Given the description of an element on the screen output the (x, y) to click on. 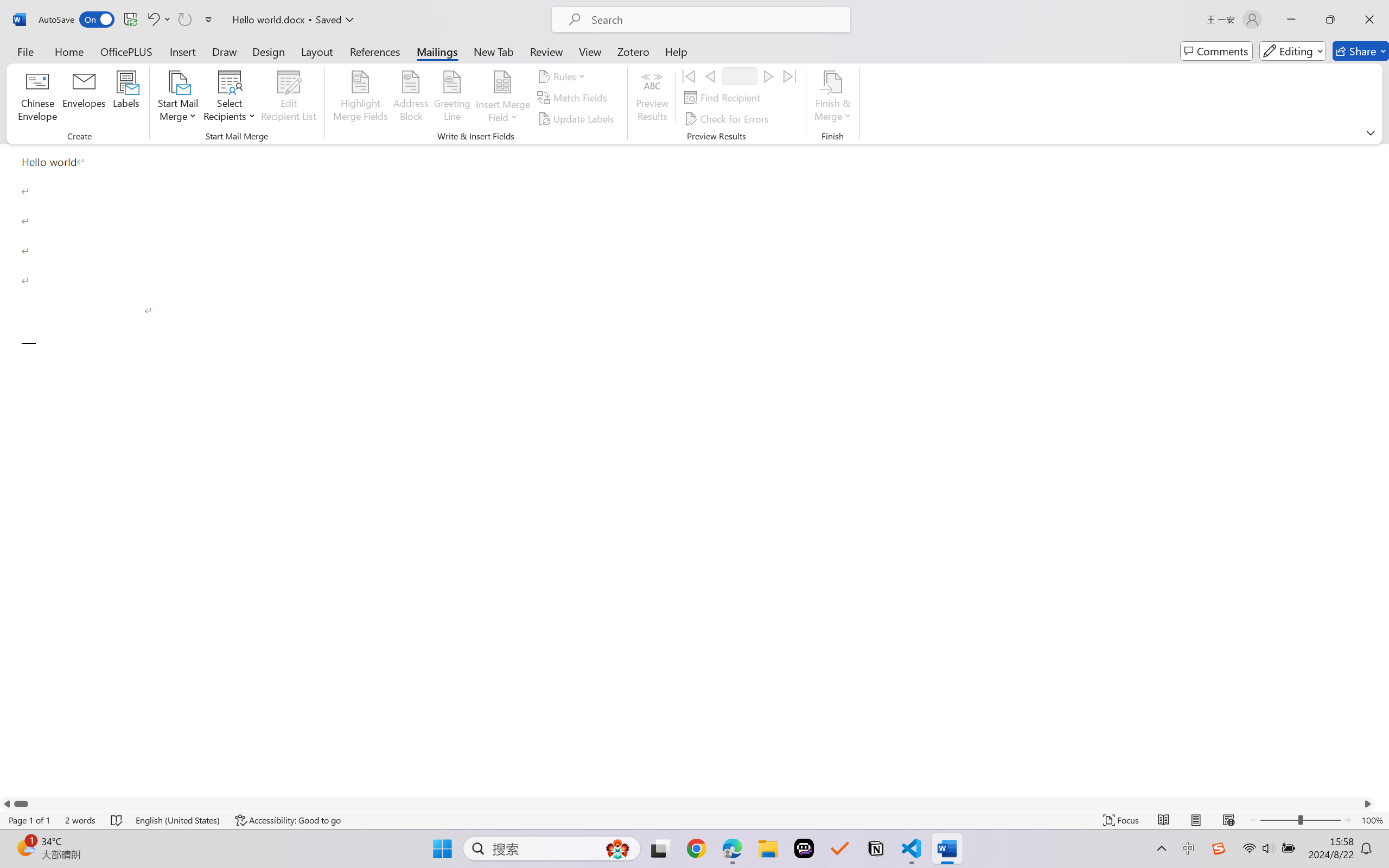
AutomationID: DynamicSearchBoxGleamImage (617, 848)
Share (1360, 51)
Class: Image (1218, 847)
Check for Errors... (728, 118)
Microsoft search (715, 19)
Chinese Envelope... (37, 97)
